Given the description of an element on the screen output the (x, y) to click on. 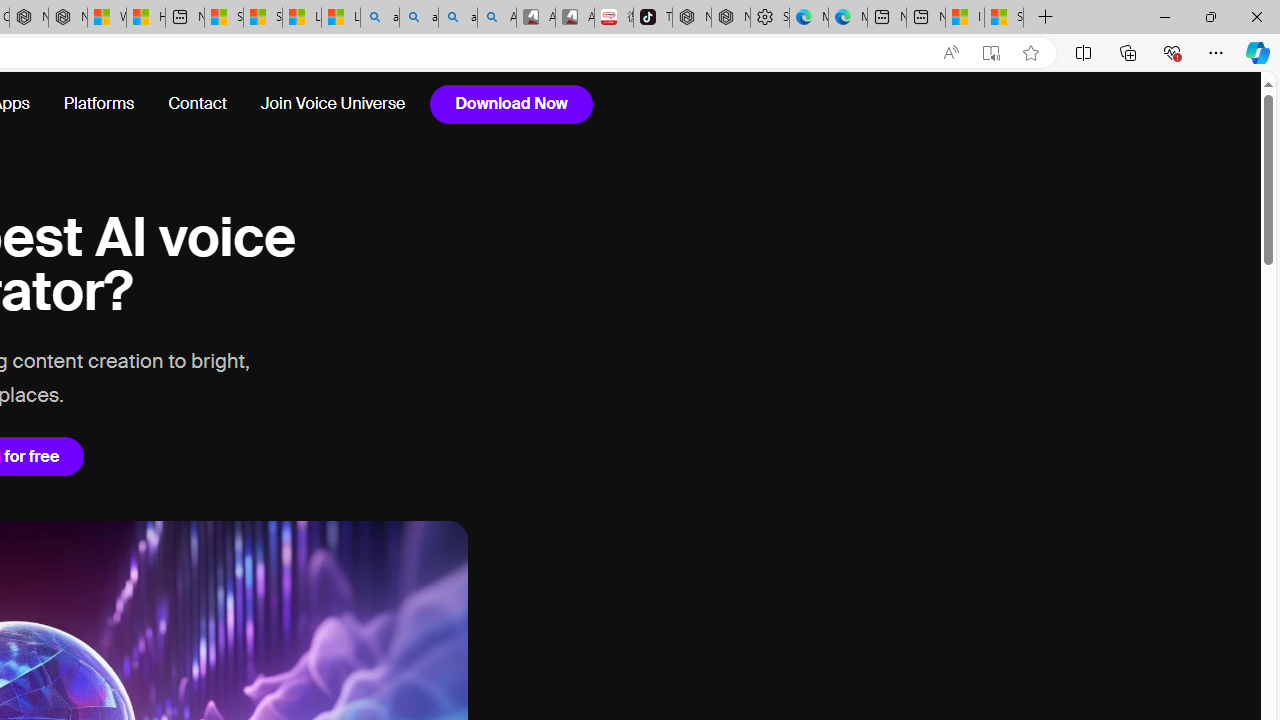
Nordace Siena Pro 15 Backpack (730, 17)
Amazon Echo Robot - Search Images (496, 17)
Download Now (511, 103)
Platforms (99, 103)
Platforms (98, 103)
All Cubot phones (574, 17)
